Given the description of an element on the screen output the (x, y) to click on. 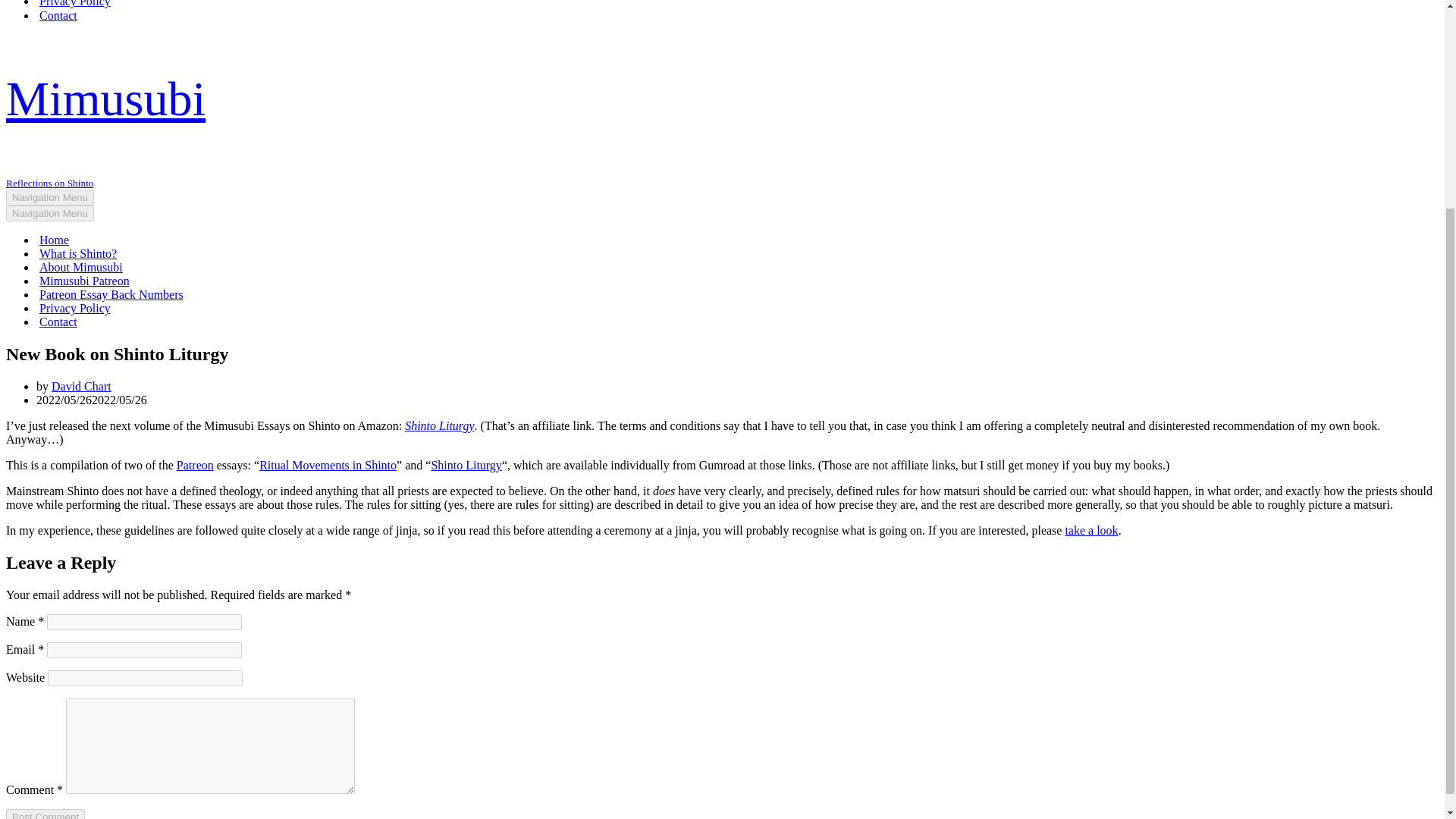
Privacy Policy (74, 308)
Patreon Essay Back Numbers (111, 295)
Privacy Policy (74, 4)
Shinto Liturgy (439, 425)
About Mimusubi (80, 267)
What is Shinto? (77, 254)
take a look (1091, 530)
Home (53, 240)
Ritual Movements in Shinto (327, 464)
Contact (58, 15)
